Given the description of an element on the screen output the (x, y) to click on. 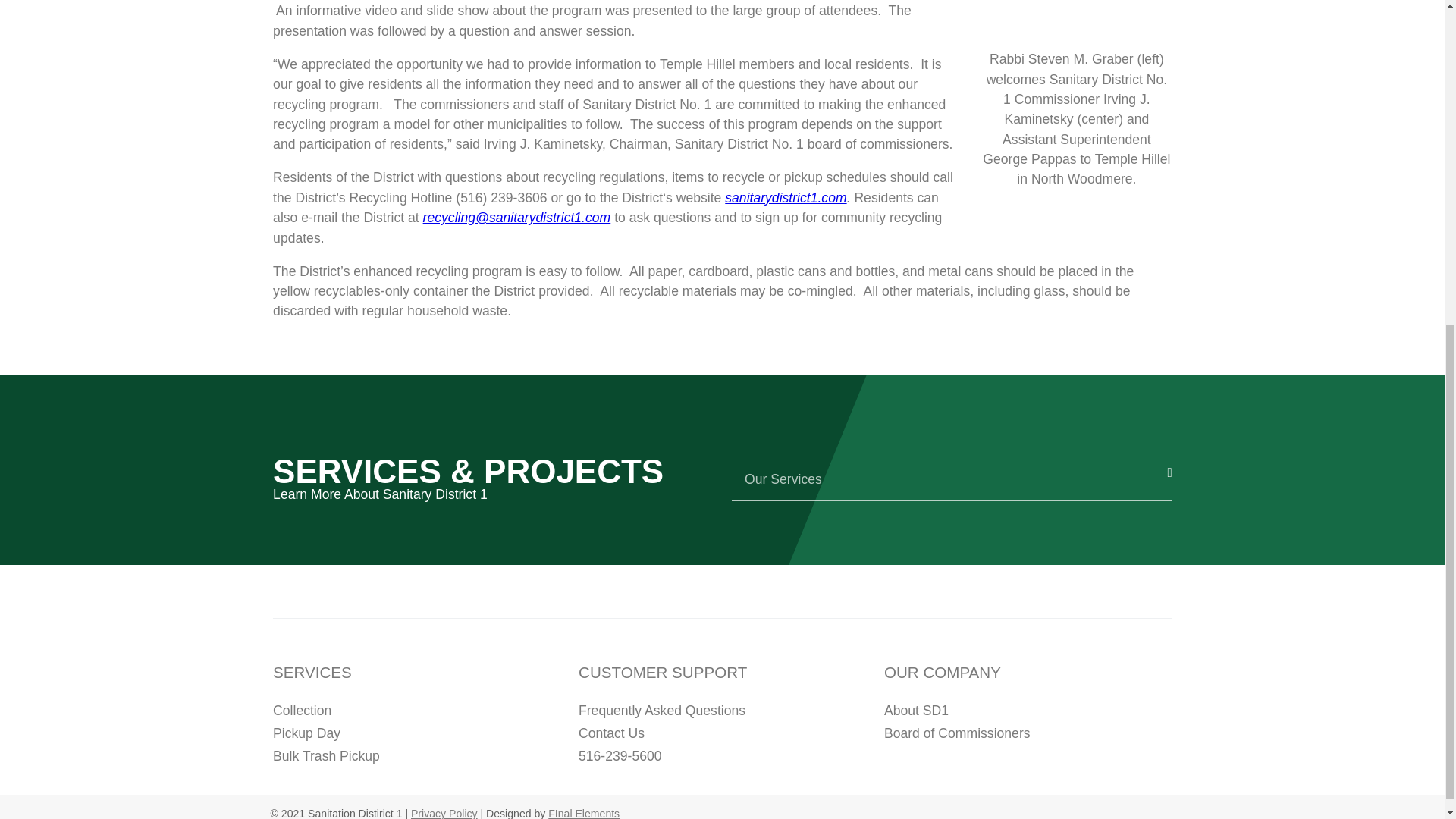
sanitarydistrict1.com (785, 197)
Pickup Day (306, 733)
About SD1 (916, 710)
Board of Commissioners (956, 733)
Bulk Trash Pickup (326, 755)
Contact Us (611, 733)
Collection (302, 710)
Frequently Asked Questions (661, 710)
516-239-5600 (620, 755)
